Given the description of an element on the screen output the (x, y) to click on. 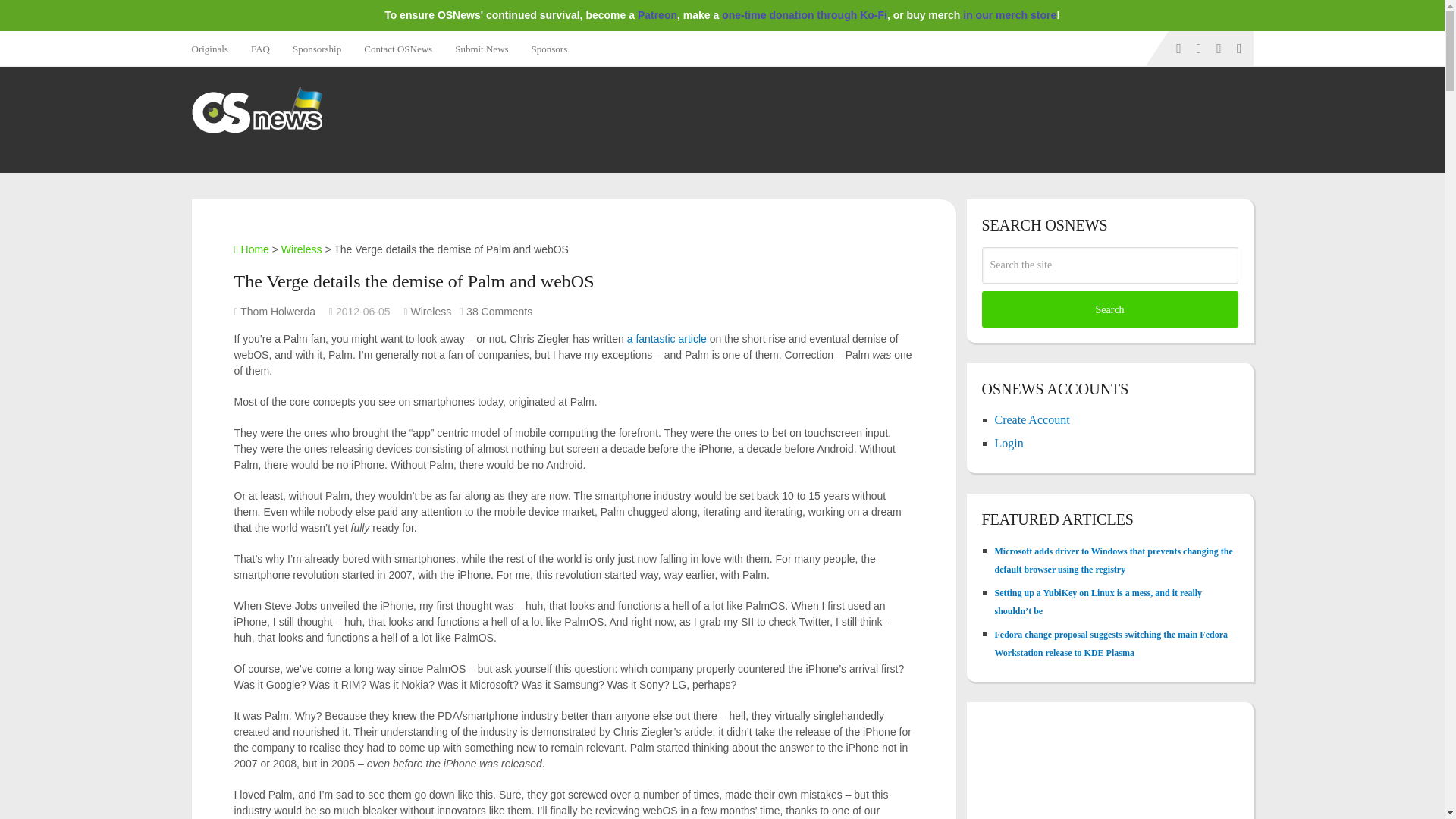
View all posts in Wireless (430, 311)
Wireless (301, 249)
in our merch store (1009, 15)
Sponsorship (316, 48)
Thom Holwerda (277, 311)
 Home (249, 249)
Wireless (430, 311)
a fantastic article (666, 338)
Search (1109, 309)
Posts by Thom Holwerda (277, 311)
